Given the description of an element on the screen output the (x, y) to click on. 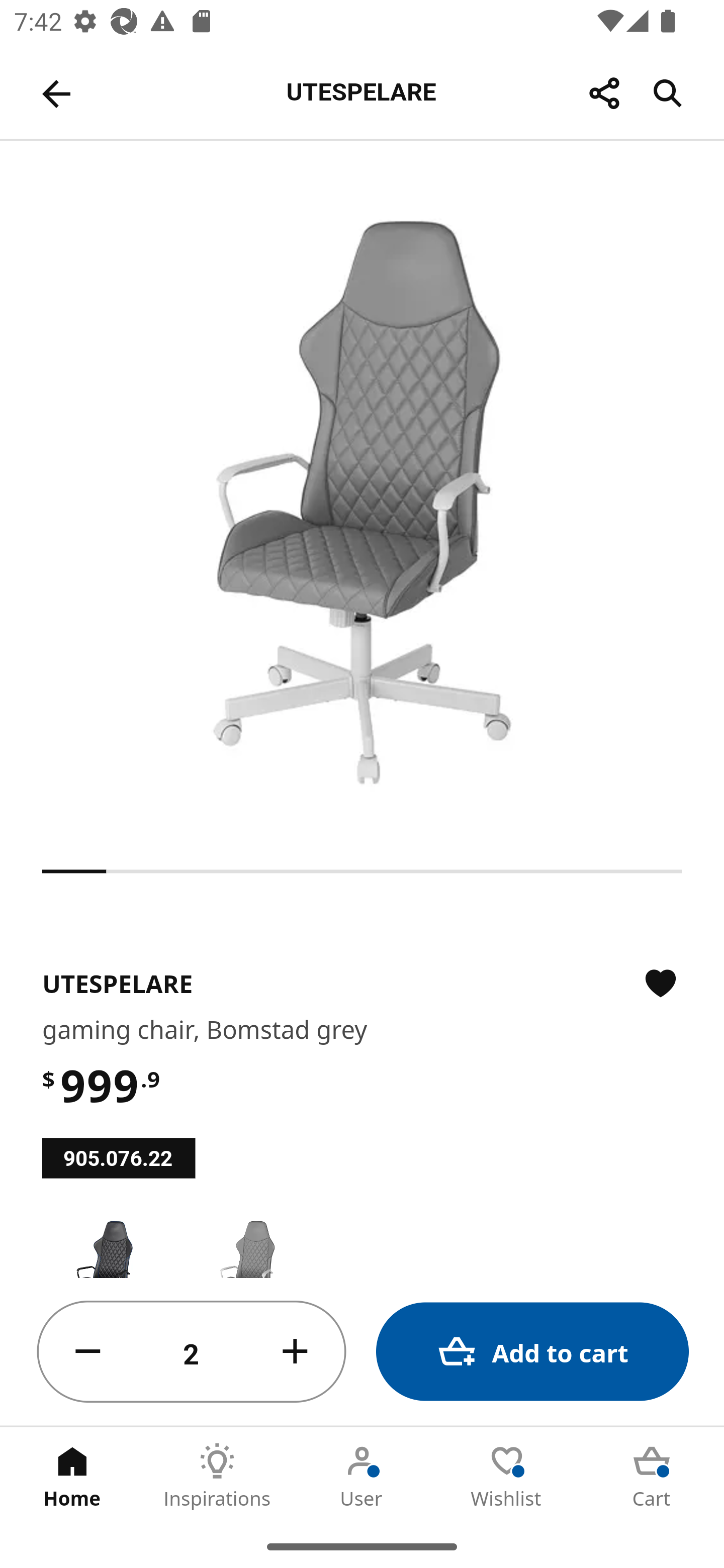
Add to cart (531, 1352)
2 (191, 1352)
Home
Tab 1 of 5 (72, 1476)
Inspirations
Tab 2 of 5 (216, 1476)
User
Tab 3 of 5 (361, 1476)
Wishlist
Tab 4 of 5 (506, 1476)
Cart
Tab 5 of 5 (651, 1476)
